Given the description of an element on the screen output the (x, y) to click on. 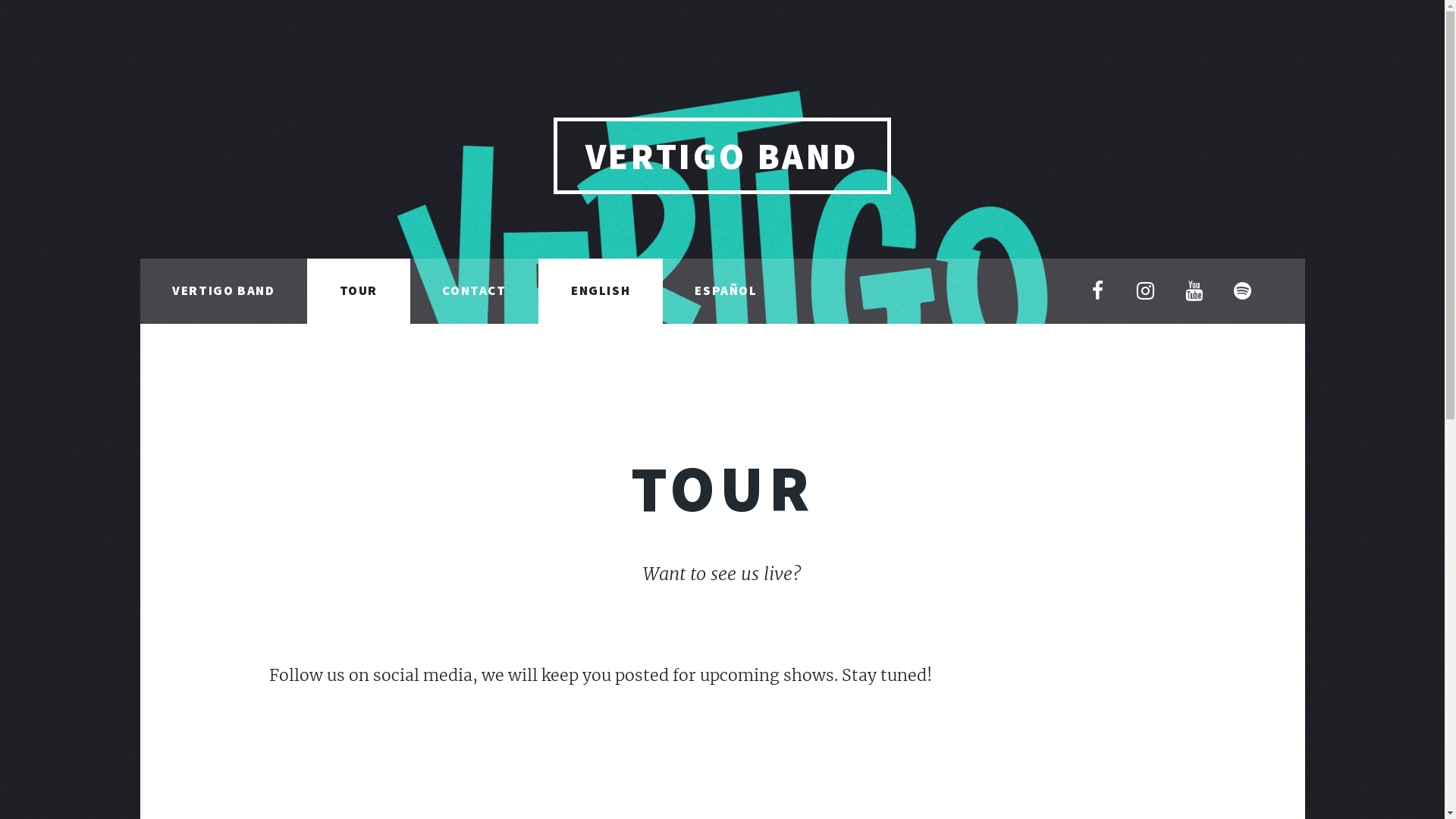
ENGLISH Element type: text (600, 290)
TOUR Element type: text (358, 290)
VERTIGO BAND Element type: text (223, 290)
CONTACT Element type: text (474, 290)
VERTIGO BAND Element type: text (722, 155)
